Given the description of an element on the screen output the (x, y) to click on. 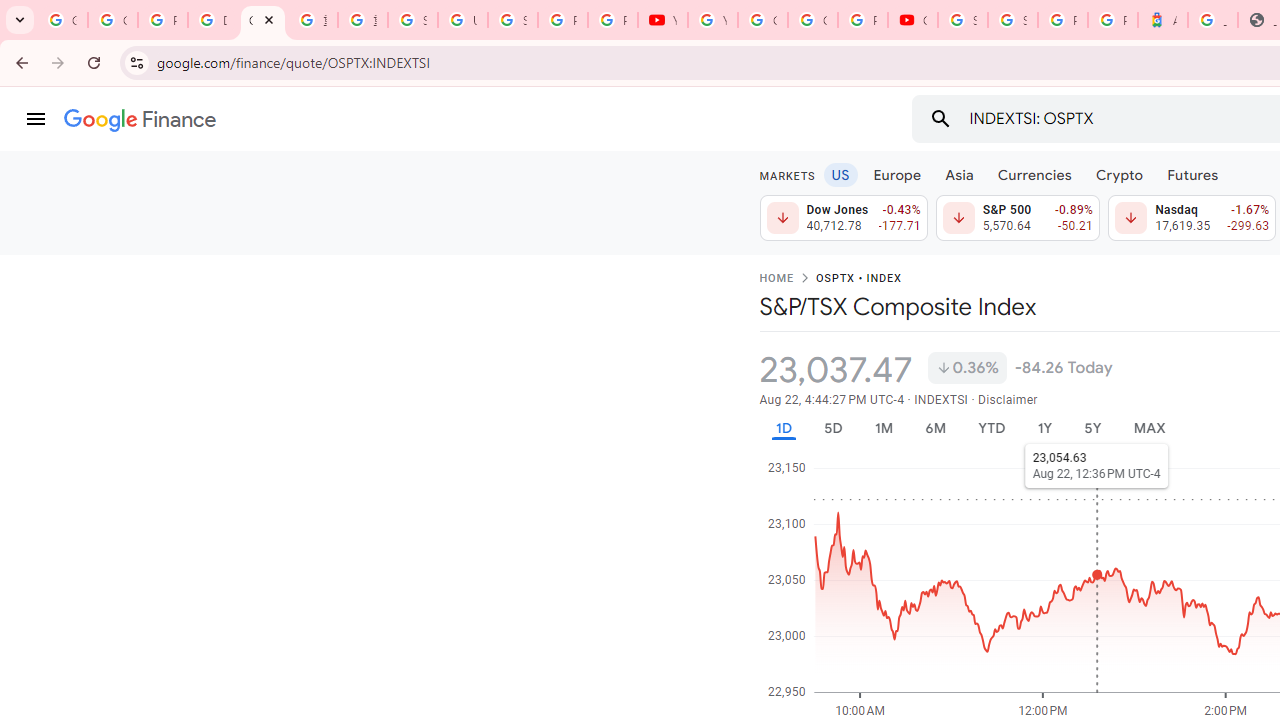
Currencies (1034, 174)
Privacy Checkup (612, 20)
US (840, 174)
Futures (1192, 174)
5Y (1092, 427)
5D (832, 427)
YTD (991, 427)
S&P 500 5,570.64 Down by 0.89% -50.21 (1017, 218)
